Given the description of an element on the screen output the (x, y) to click on. 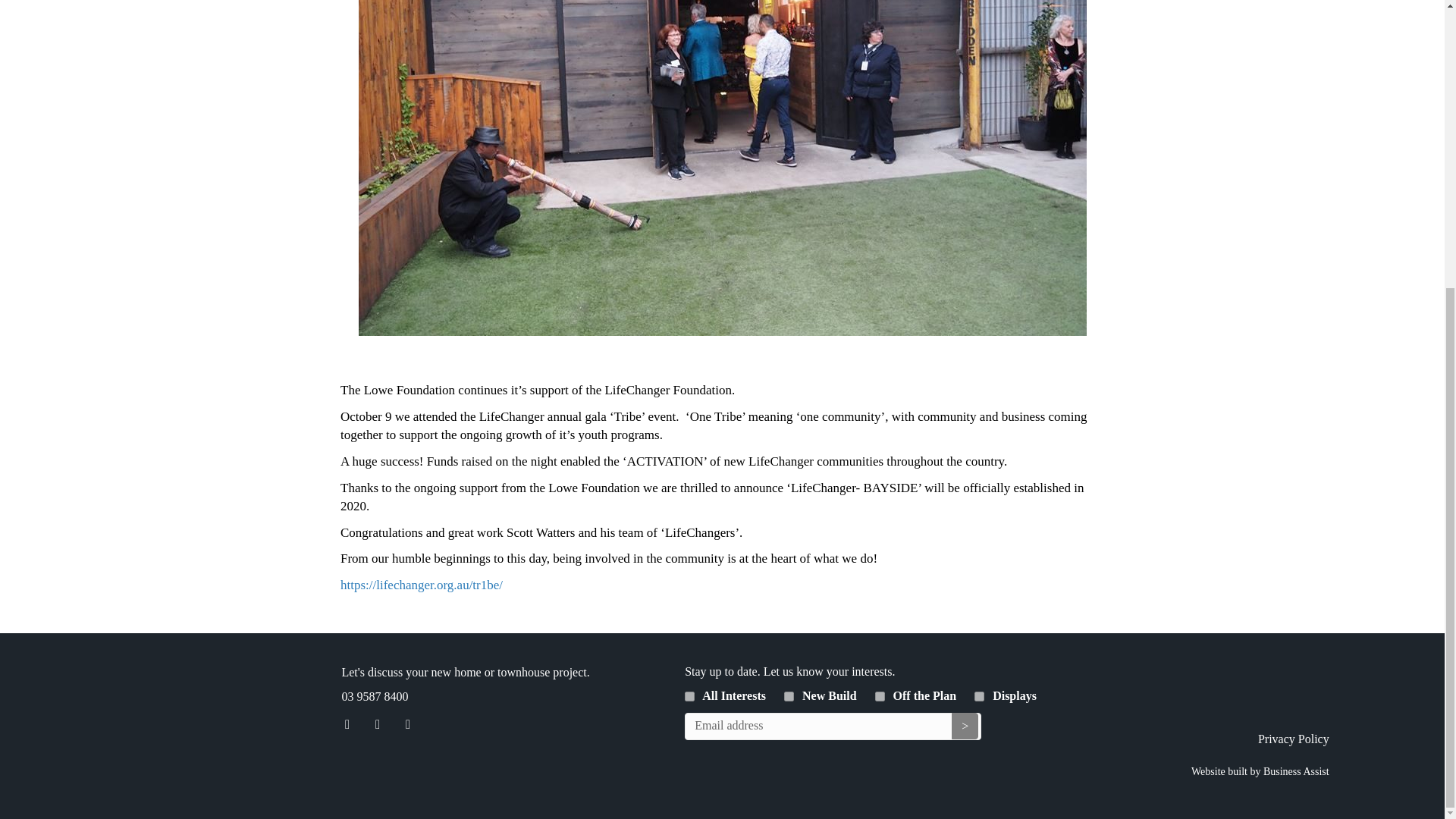
Displays (979, 696)
Off the Plan (880, 696)
Instagram (377, 724)
Privacy Policy (1293, 738)
All Interests (689, 696)
YouTube (407, 724)
New Build (788, 696)
03 9587 8400 (373, 696)
Facebook (346, 724)
